Given the description of an element on the screen output the (x, y) to click on. 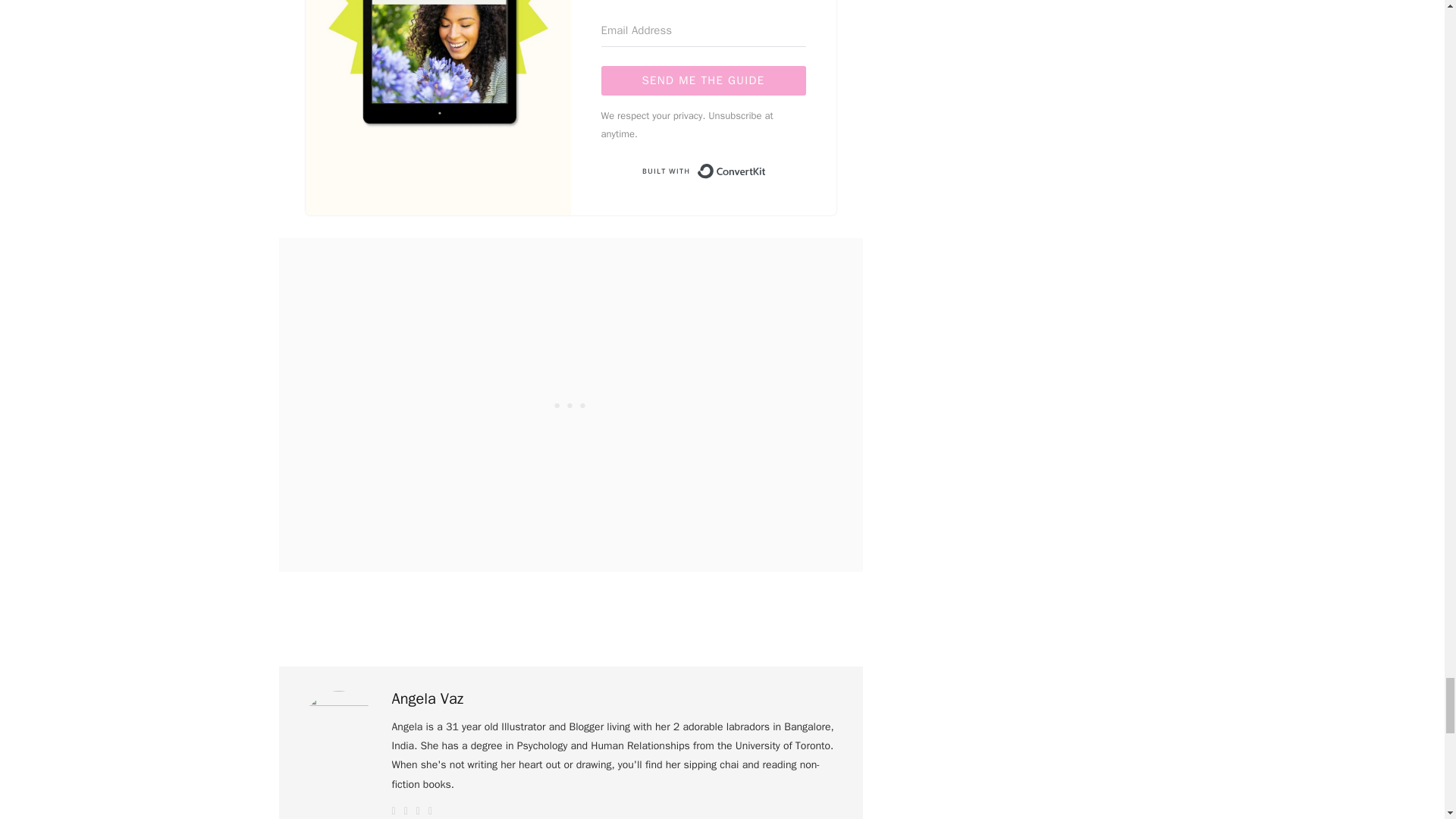
Instagram (430, 810)
Pinterest (418, 810)
Instagram (430, 810)
Posts by Angela Vaz (427, 699)
Built with ConvertKit (702, 171)
Angela Vaz (427, 699)
Pinterest (418, 810)
SEND ME THE GUIDE (702, 80)
